Given the description of an element on the screen output the (x, y) to click on. 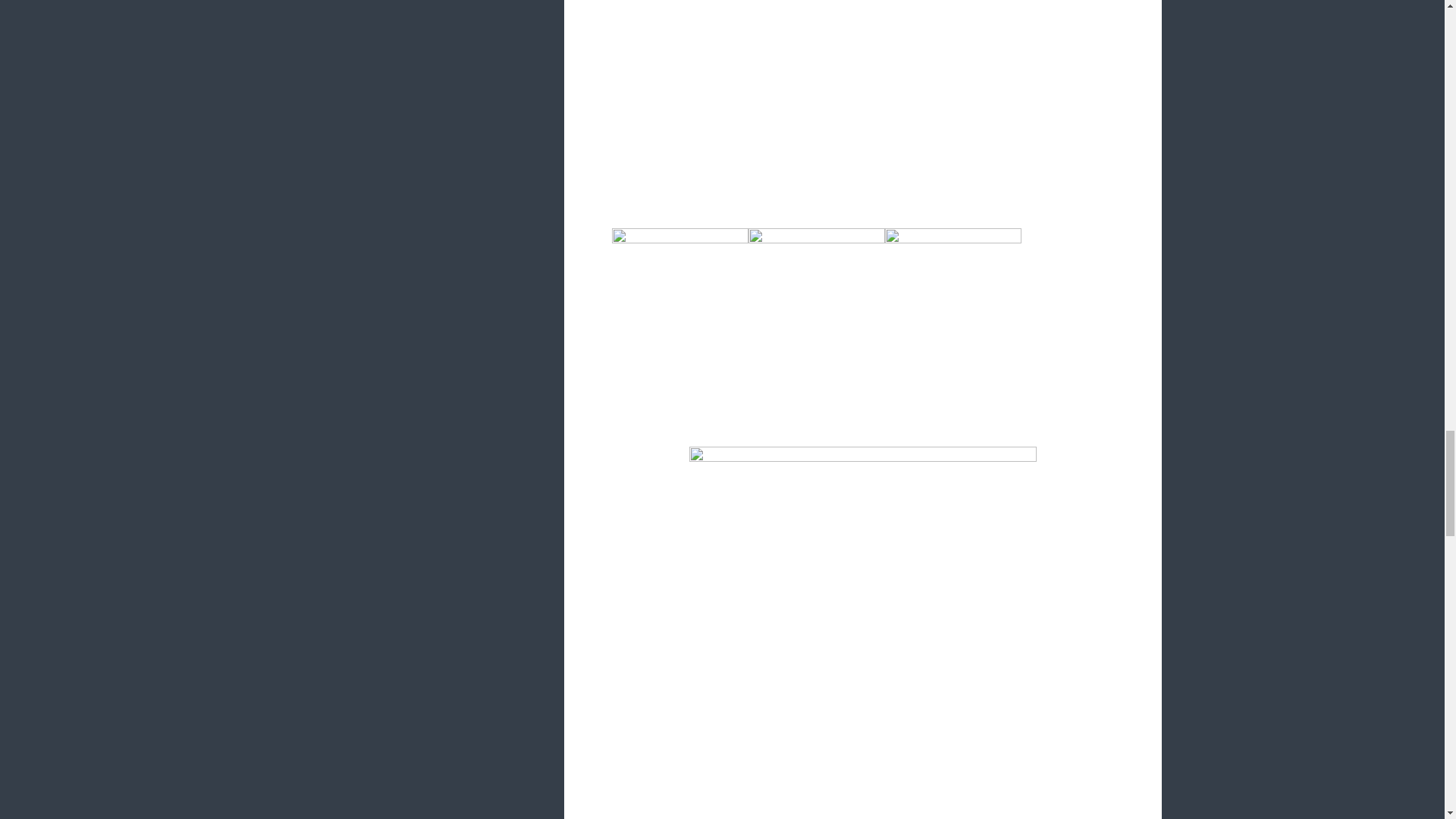
Christina-hendricks (862, 632)
christina-hendricks-boobs-cleavage-golden-globes (679, 328)
christina-hendricks-picture-bbt (862, 106)
christina-hendricks-boobs-cleavage-golden-globes (953, 328)
christina-hendricks-boobs-cleavage-golden-globes-emmy-2010 (816, 328)
